Given the description of an element on the screen output the (x, y) to click on. 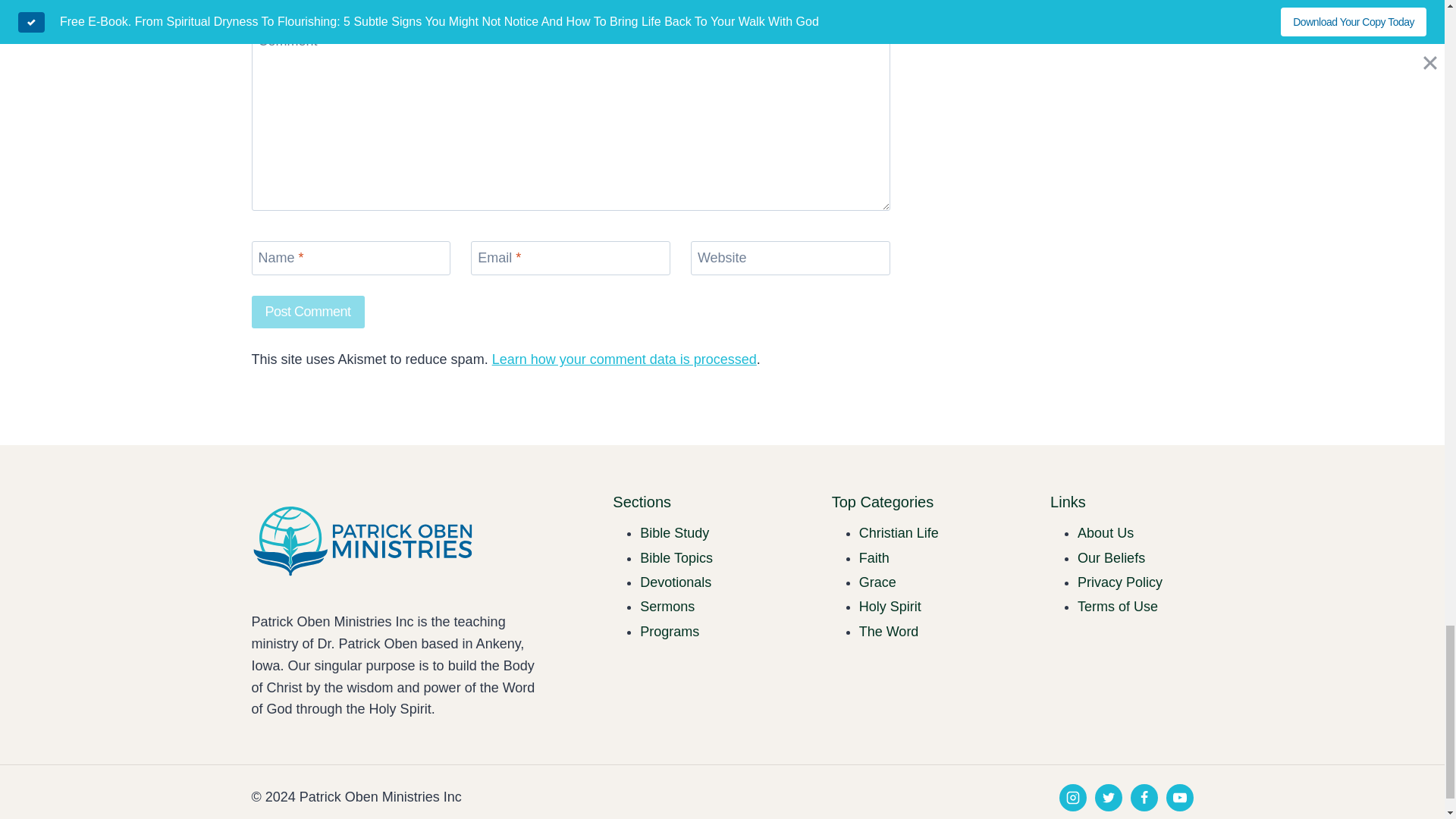
Post Comment (308, 311)
